Given the description of an element on the screen output the (x, y) to click on. 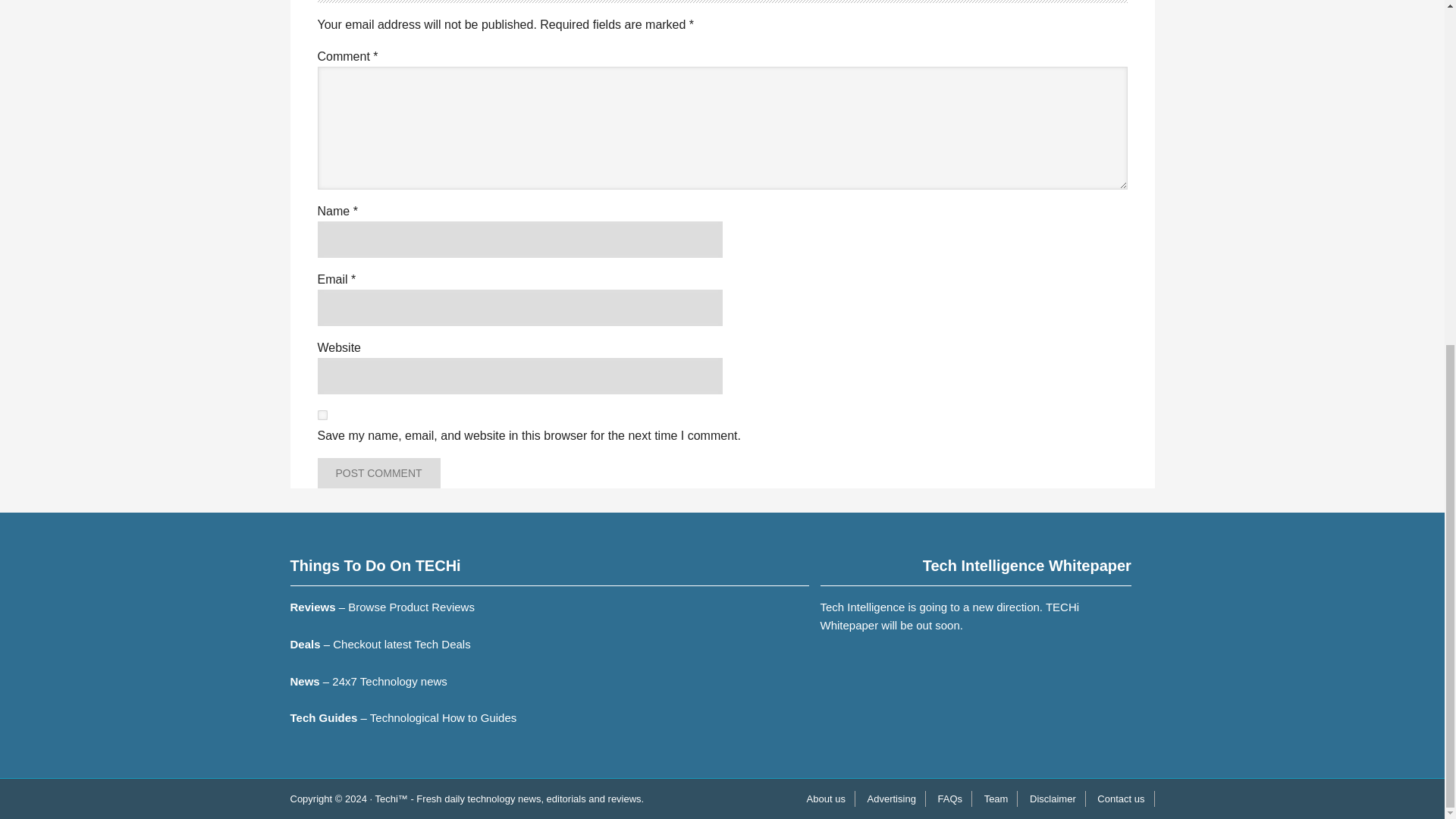
About us (826, 798)
Team (996, 798)
FAQs (950, 798)
Contact us (1120, 798)
Post Comment (378, 472)
Disclaimer (1053, 798)
Post Comment (378, 472)
Advertising (892, 798)
yes (321, 415)
